Given the description of an element on the screen output the (x, y) to click on. 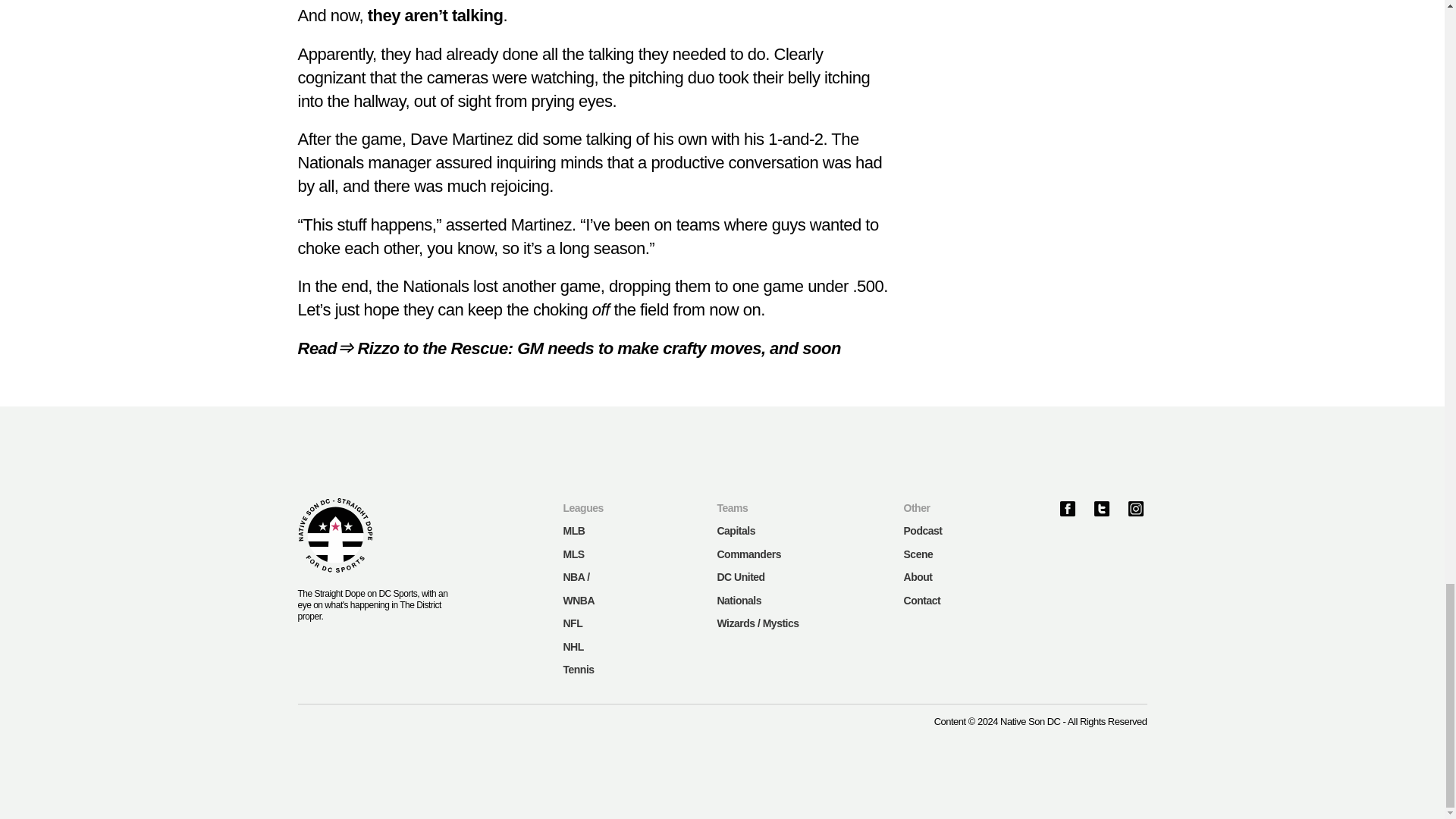
MLB (573, 530)
NHL (572, 646)
Commanders (748, 553)
DC United (740, 576)
MLS (572, 553)
NFL (572, 623)
Teams (732, 508)
NSDC (334, 535)
Nationals (738, 600)
Capitals (735, 530)
